Given the description of an element on the screen output the (x, y) to click on. 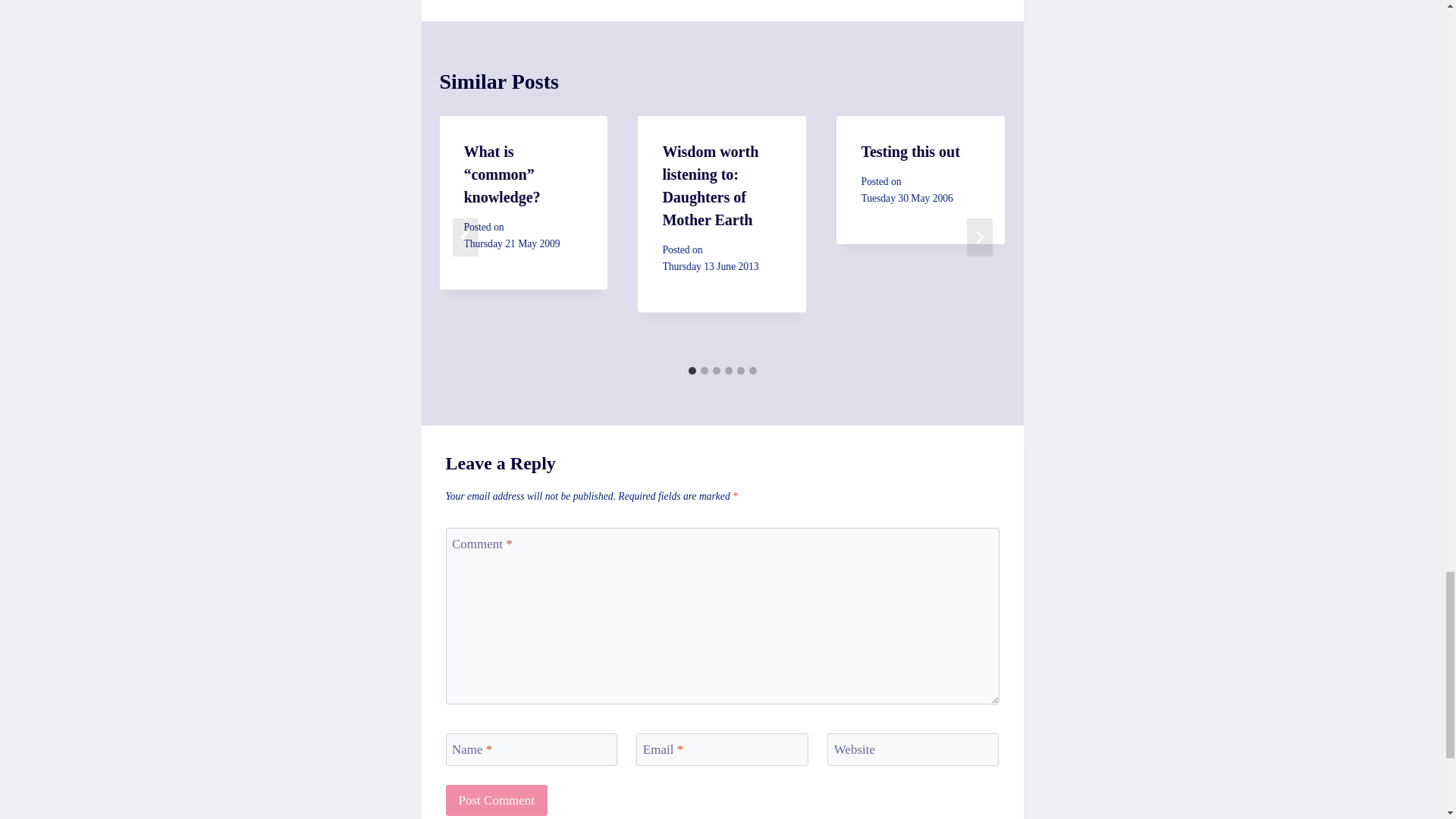
Post Comment (496, 799)
